Given the description of an element on the screen output the (x, y) to click on. 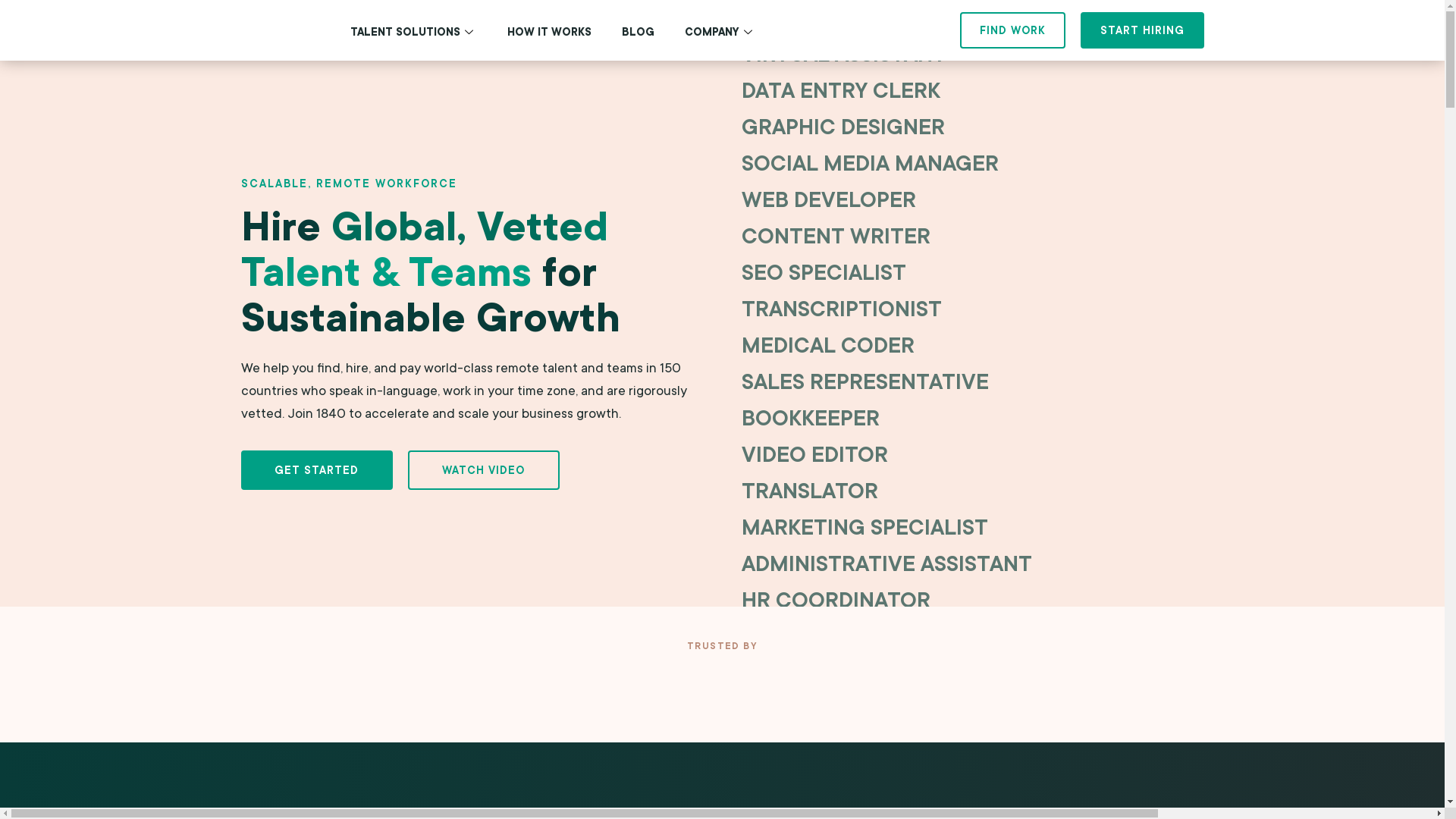
HOW IT WORKS Element type: text (548, 31)
WATCH VIDEO Element type: text (483, 469)
BLOG Element type: text (637, 31)
FIND WORK Element type: text (1012, 30)
GET STARTED Element type: text (316, 469)
TALENT SOLUTIONS Element type: text (413, 31)
START HIRING Element type: text (1141, 30)
COMPANY Element type: text (719, 31)
